Given the description of an element on the screen output the (x, y) to click on. 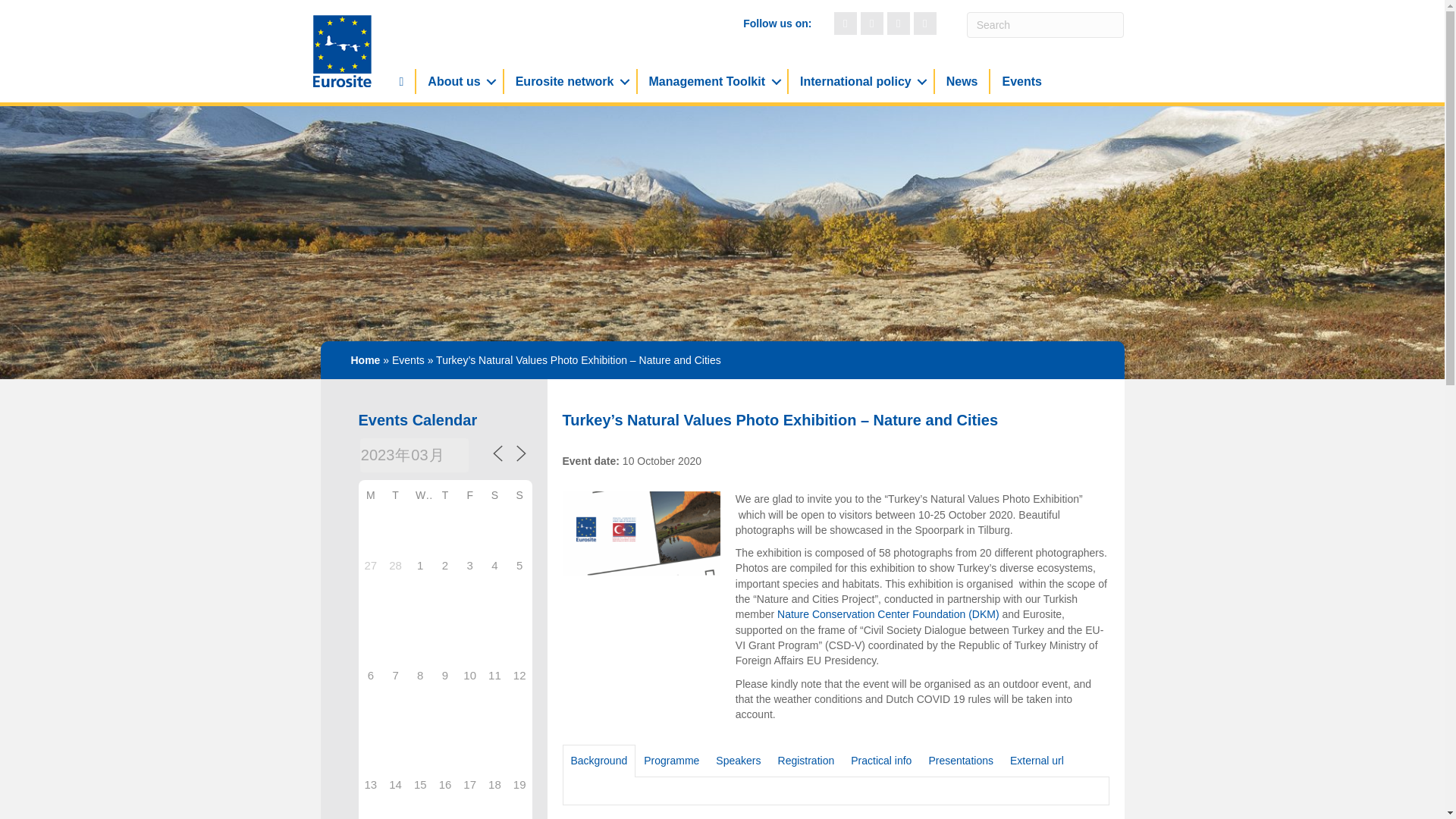
Type and press Enter to search. (1045, 24)
Eurosite network (569, 81)
About us (459, 81)
2023-03 (413, 455)
Management Toolkit (712, 81)
Screenshot 2020-10-05 at 19.29.57 (641, 538)
